Given the description of an element on the screen output the (x, y) to click on. 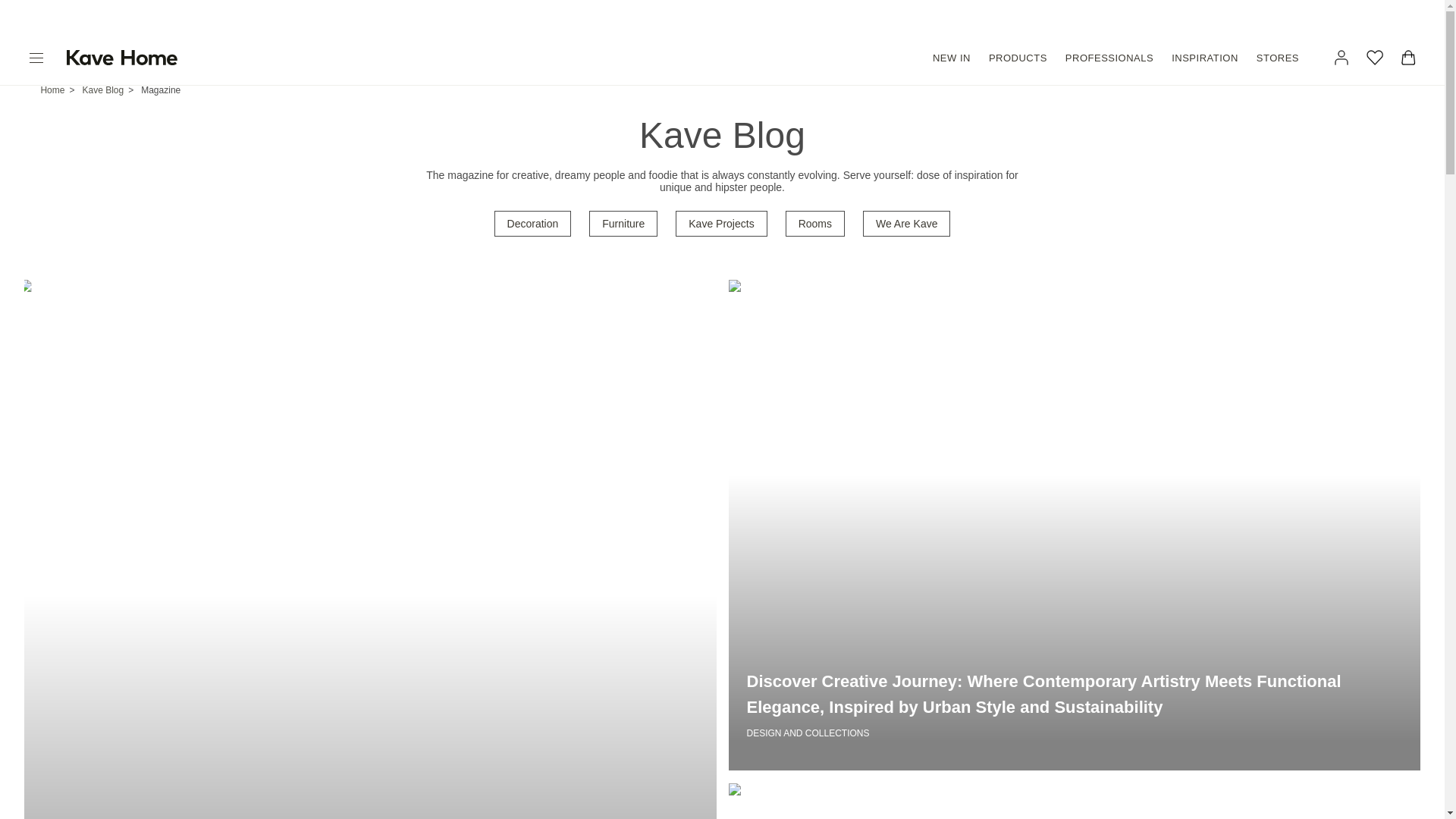
PROFESSIONALS (1108, 57)
NEW IN (951, 57)
STORES (1277, 57)
PRODUCTS (1017, 57)
INSPIRATION (1205, 57)
Kave Home (130, 56)
NEW IN (951, 57)
PROFESSIONALS (1108, 57)
STORES (1277, 57)
